Given the description of an element on the screen output the (x, y) to click on. 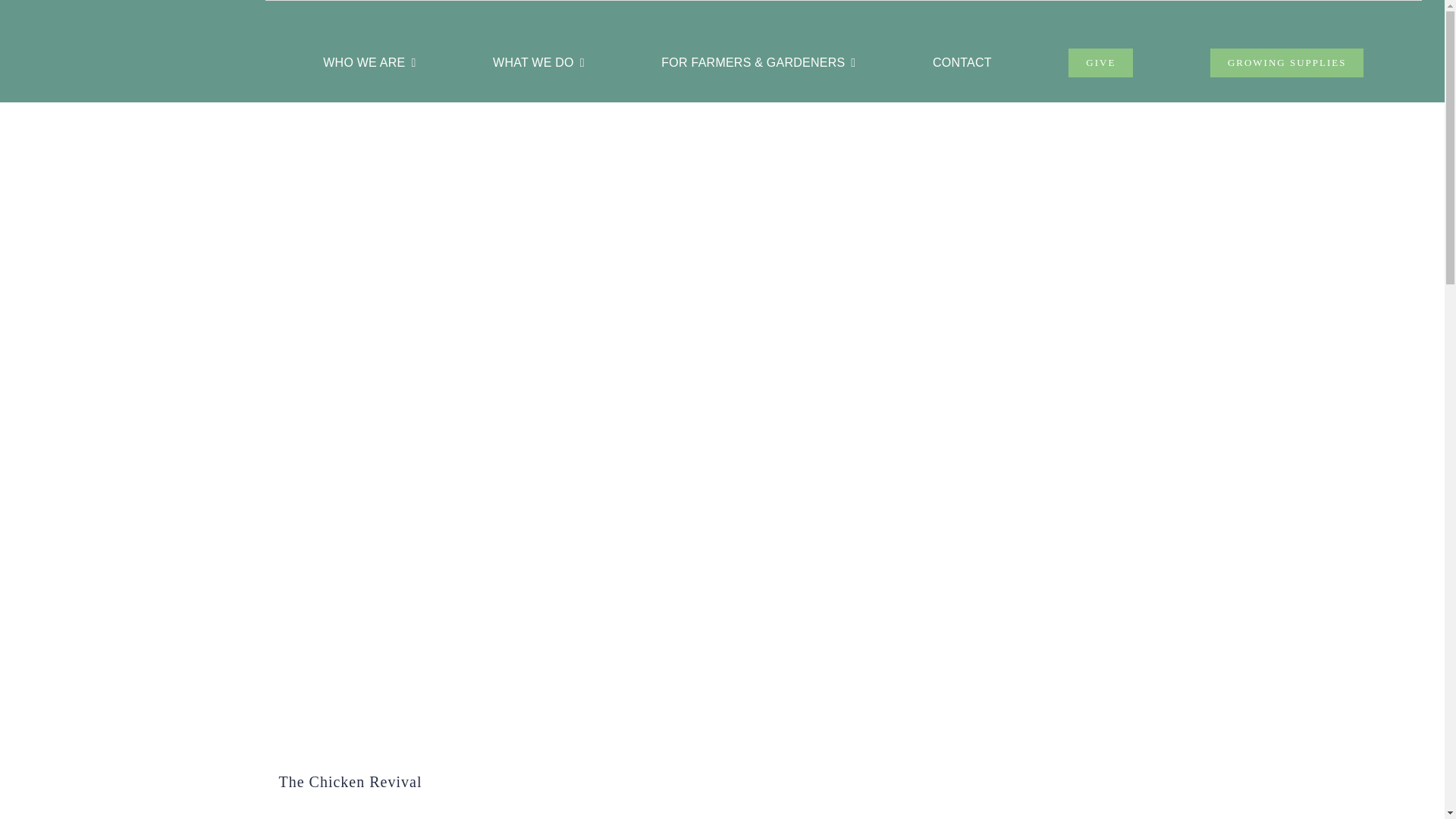
WHAT WE DO (539, 62)
WHO WE ARE (368, 62)
CONTACT (962, 62)
GROWING SUPPLIES (1286, 62)
GIVE (1100, 62)
